Given the description of an element on the screen output the (x, y) to click on. 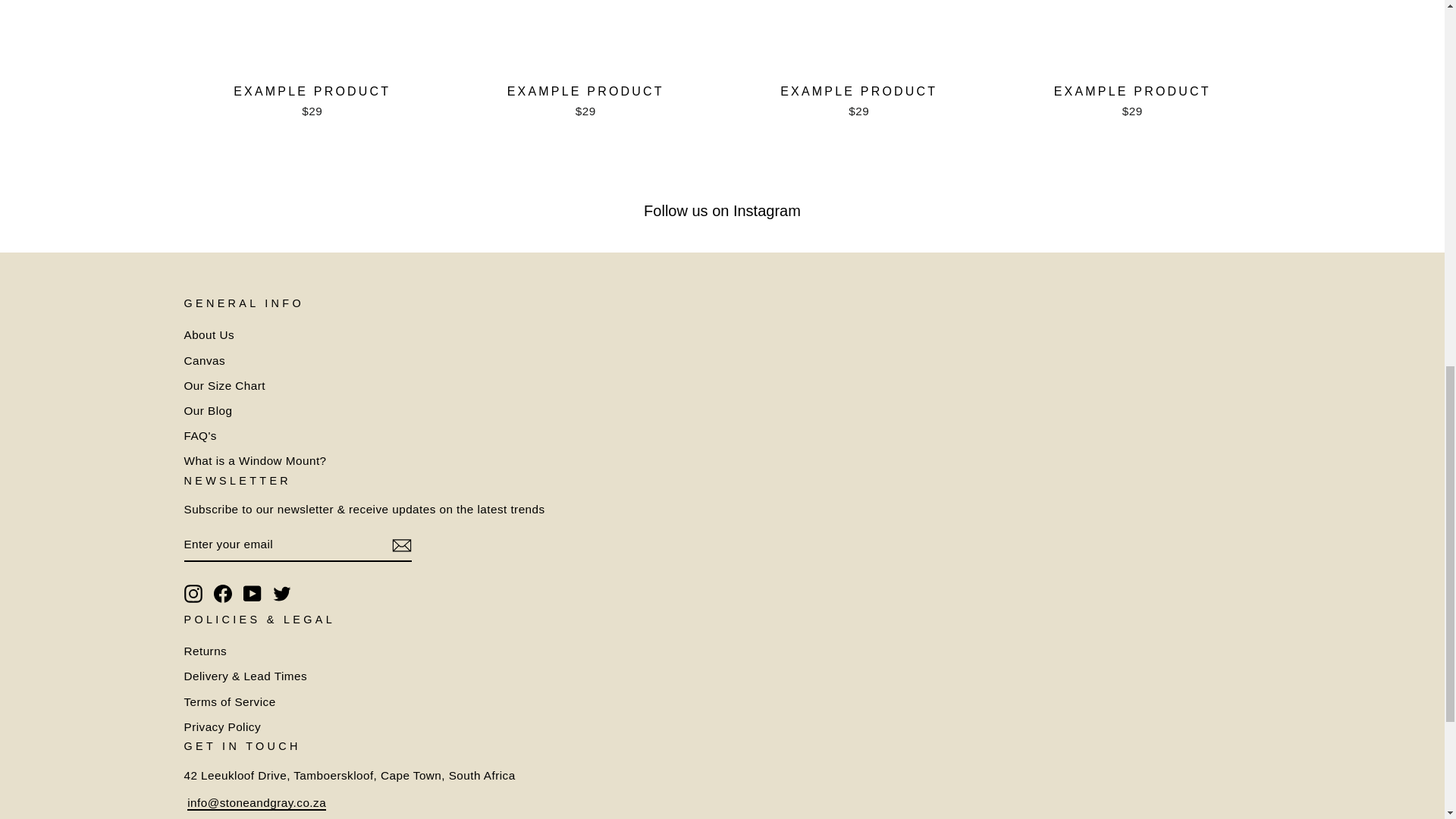
Stone and Gray on Twitter (282, 593)
Stone and Gray on Instagram (192, 593)
Stone and Gray on YouTube (251, 593)
Stone and Gray on Facebook (222, 593)
instagram (192, 593)
twitter (282, 593)
icon-email (400, 546)
